Given the description of an element on the screen output the (x, y) to click on. 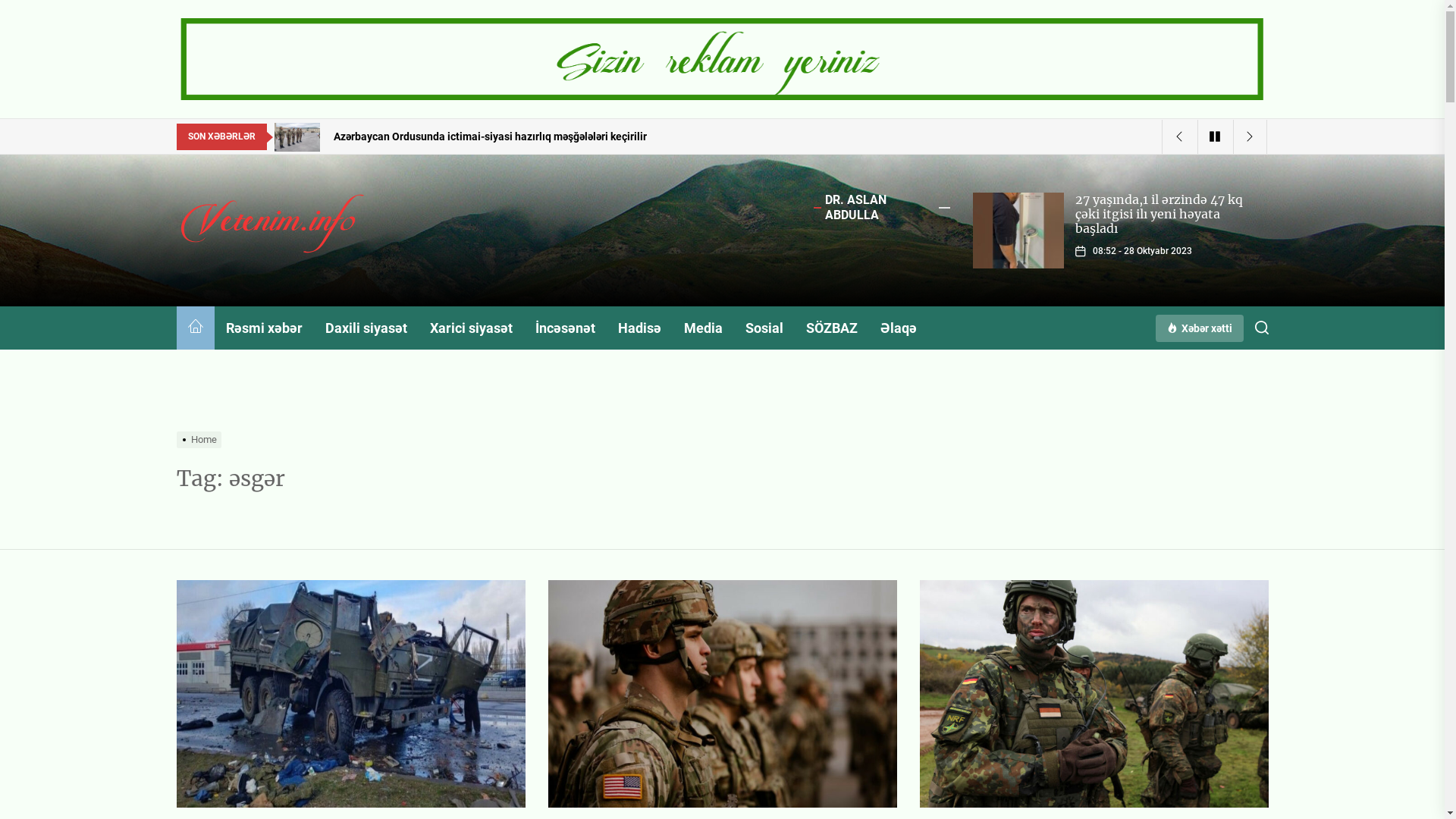
Home Element type: text (199, 439)
Home Element type: hover (194, 327)
Media Element type: text (702, 327)
Sosial Element type: text (764, 327)
Header AD Image Element type: hover (721, 59)
11:18 - 09 Noyabr 2023 Element type: text (1140, 250)
